Given the description of an element on the screen output the (x, y) to click on. 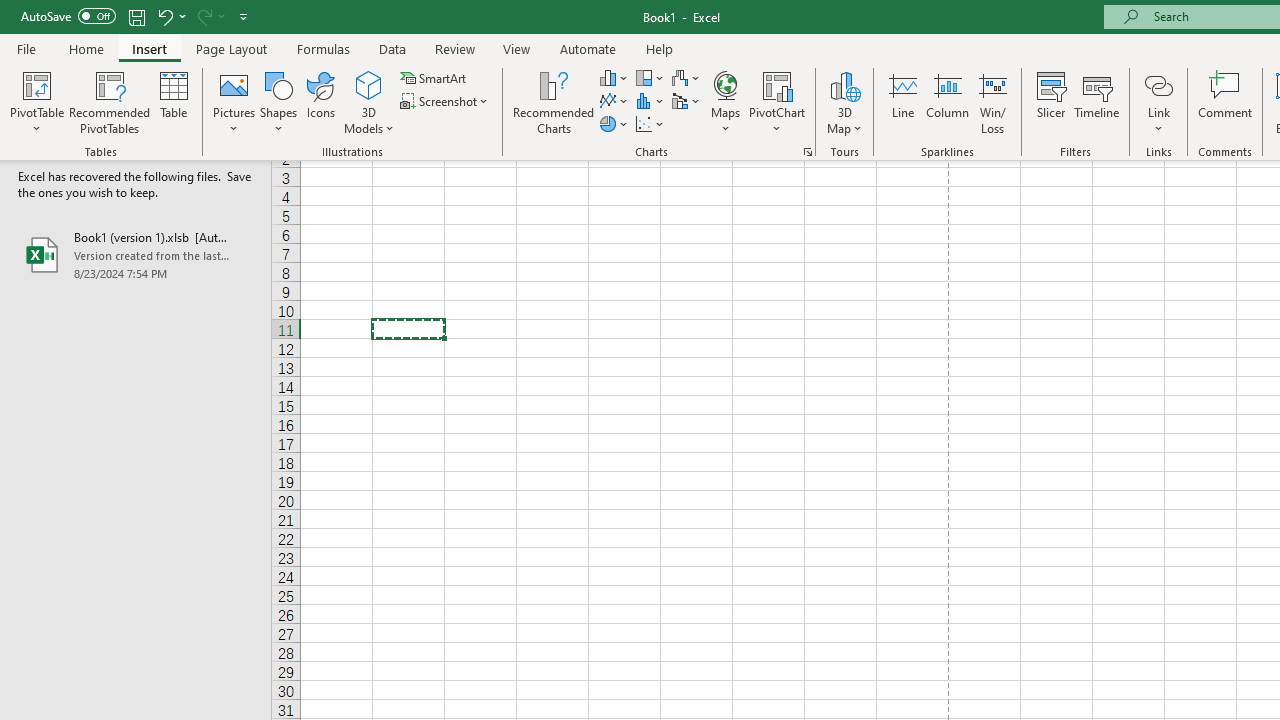
Quick Access Toolbar (136, 16)
Save (136, 15)
View (517, 48)
More Options (222, 15)
Automate (588, 48)
